Given the description of an element on the screen output the (x, y) to click on. 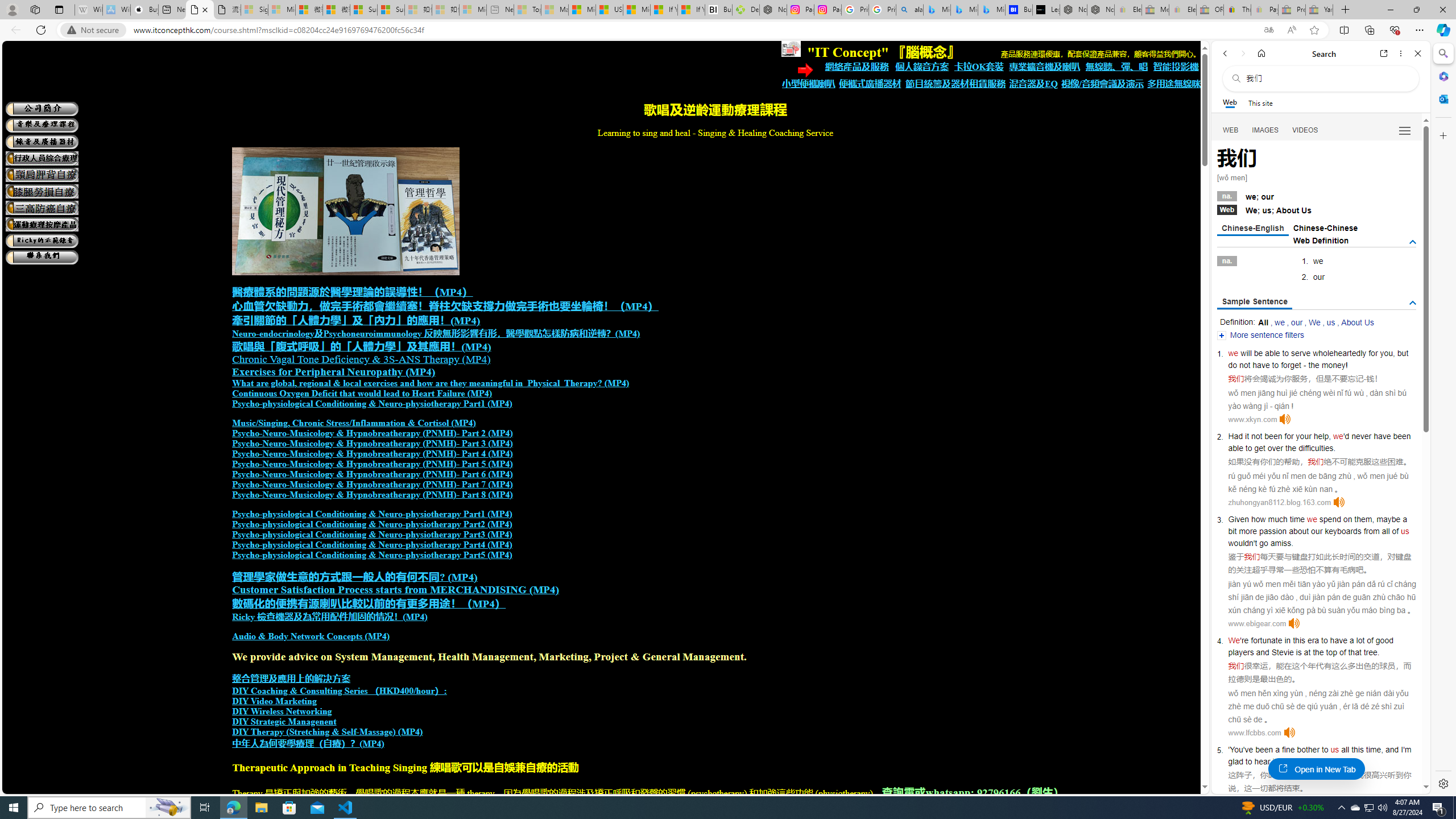
Yard, Garden & Outdoor Living - Sleeping (1319, 9)
glad (1235, 760)
To get missing image descriptions, open the context menu. (790, 48)
WEB (1231, 130)
' (1228, 749)
you (1386, 352)
is (1298, 651)
in (1287, 640)
on (1347, 519)
